Given the description of an element on the screen output the (x, y) to click on. 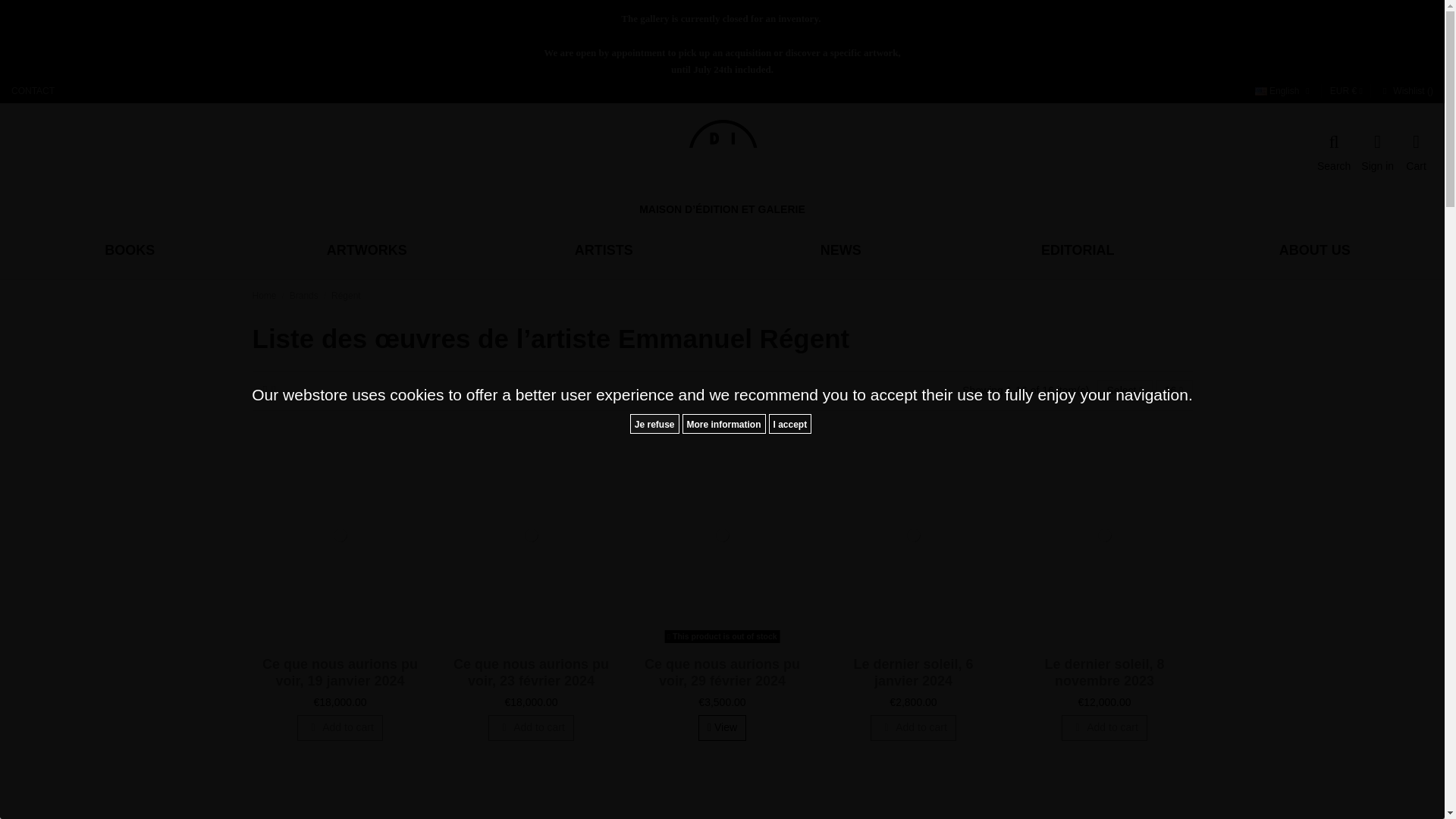
EDITORIAL (1077, 250)
ABOUT US (1313, 250)
NEWS (840, 250)
CONTACT (33, 90)
BOOKS (129, 250)
English (1284, 90)
ARTISTS (603, 250)
ARTWORKS (366, 250)
More information (723, 424)
